Given the description of an element on the screen output the (x, y) to click on. 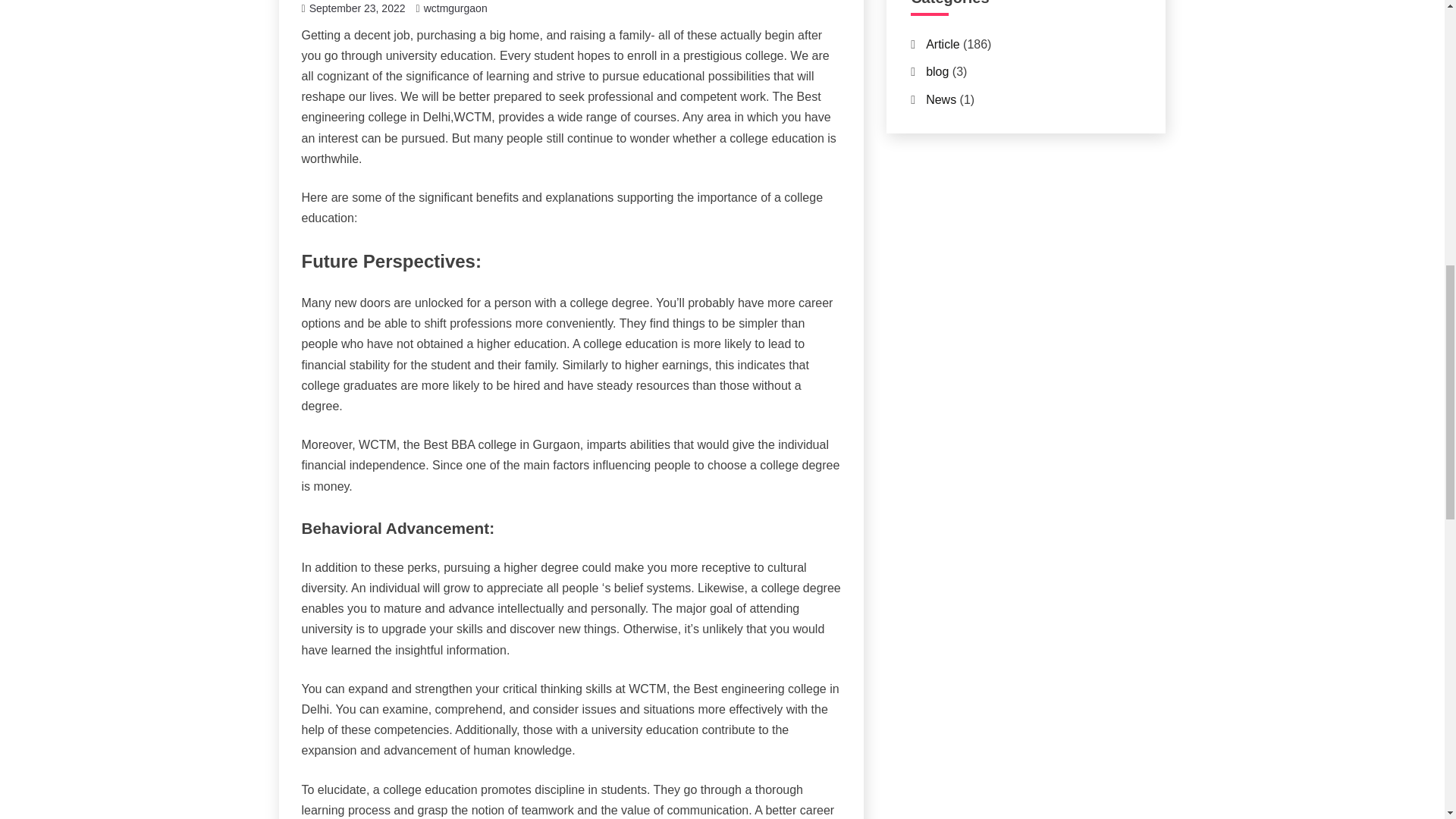
wctmgurgaon (455, 8)
September 23, 2022 (357, 8)
Article (942, 43)
